Given the description of an element on the screen output the (x, y) to click on. 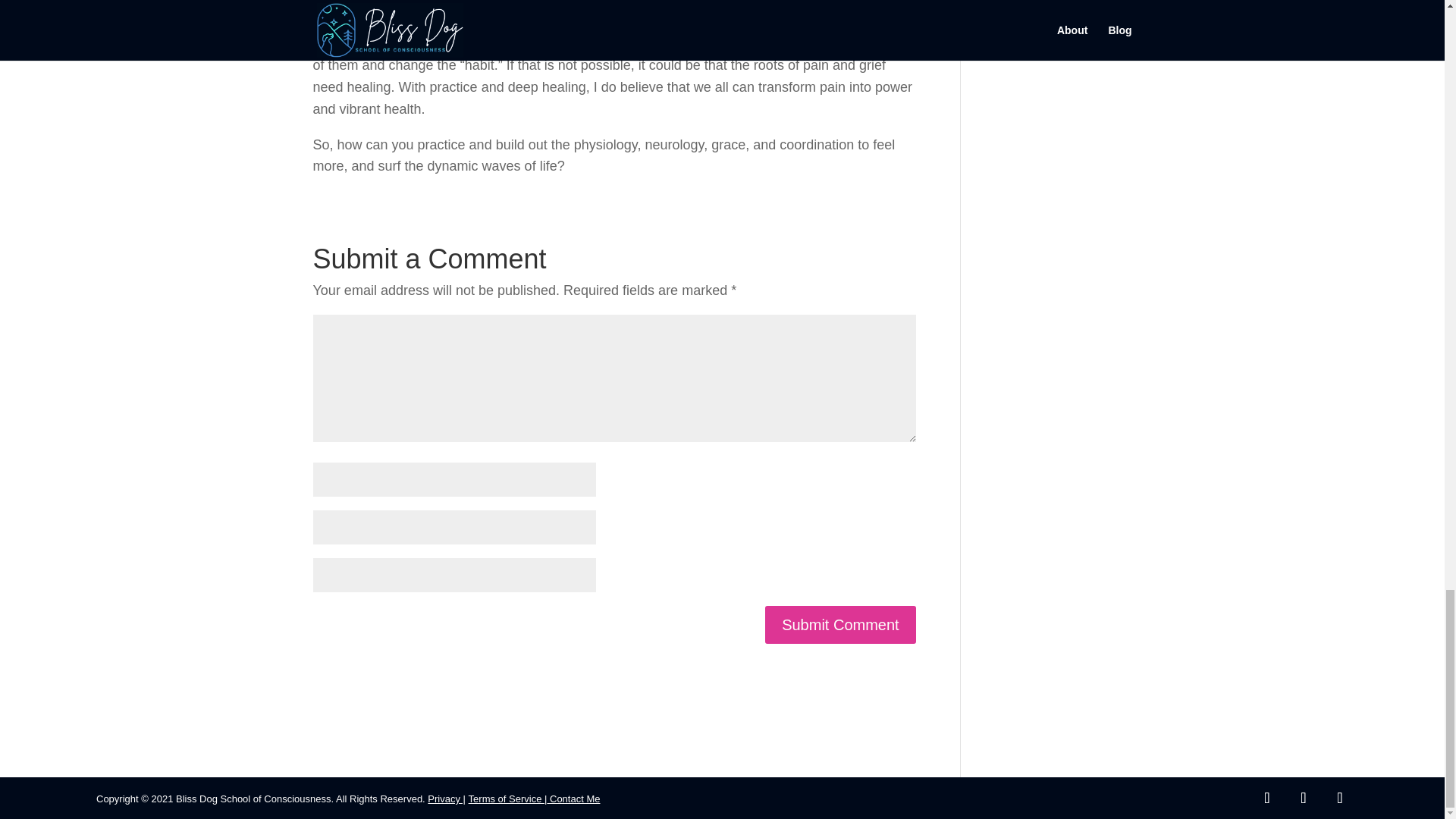
Follow on Facebook (1267, 797)
Follow on Youtube (1339, 797)
Contact Me (573, 798)
Submit Comment (840, 624)
Follow on Instagram (1303, 797)
Submit Comment (840, 624)
